Given the description of an element on the screen output the (x, y) to click on. 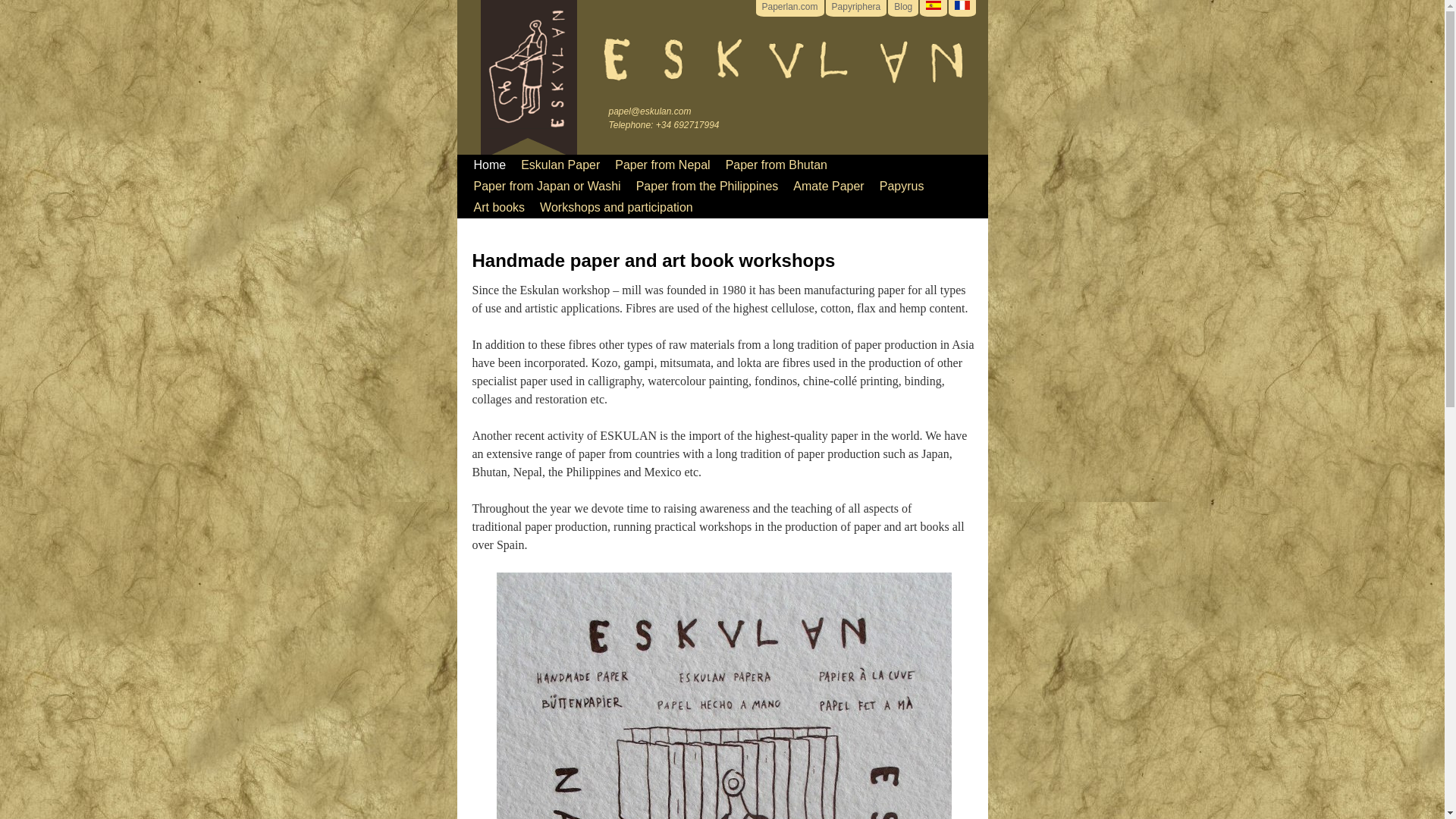
Papyriphera (855, 6)
Workshops and participation (616, 207)
Art books (498, 207)
Paperlan.com (788, 6)
Eskulan Paper (560, 165)
Paper from Nepal (662, 165)
Paper from Bhutan (775, 165)
Amate Paper (828, 186)
Papyrus (901, 186)
Blog (902, 6)
Paper from the Philippines (707, 186)
Paper from Japan or Washi (546, 186)
tarjeta de presentacion (724, 695)
Home (489, 165)
